Given the description of an element on the screen output the (x, y) to click on. 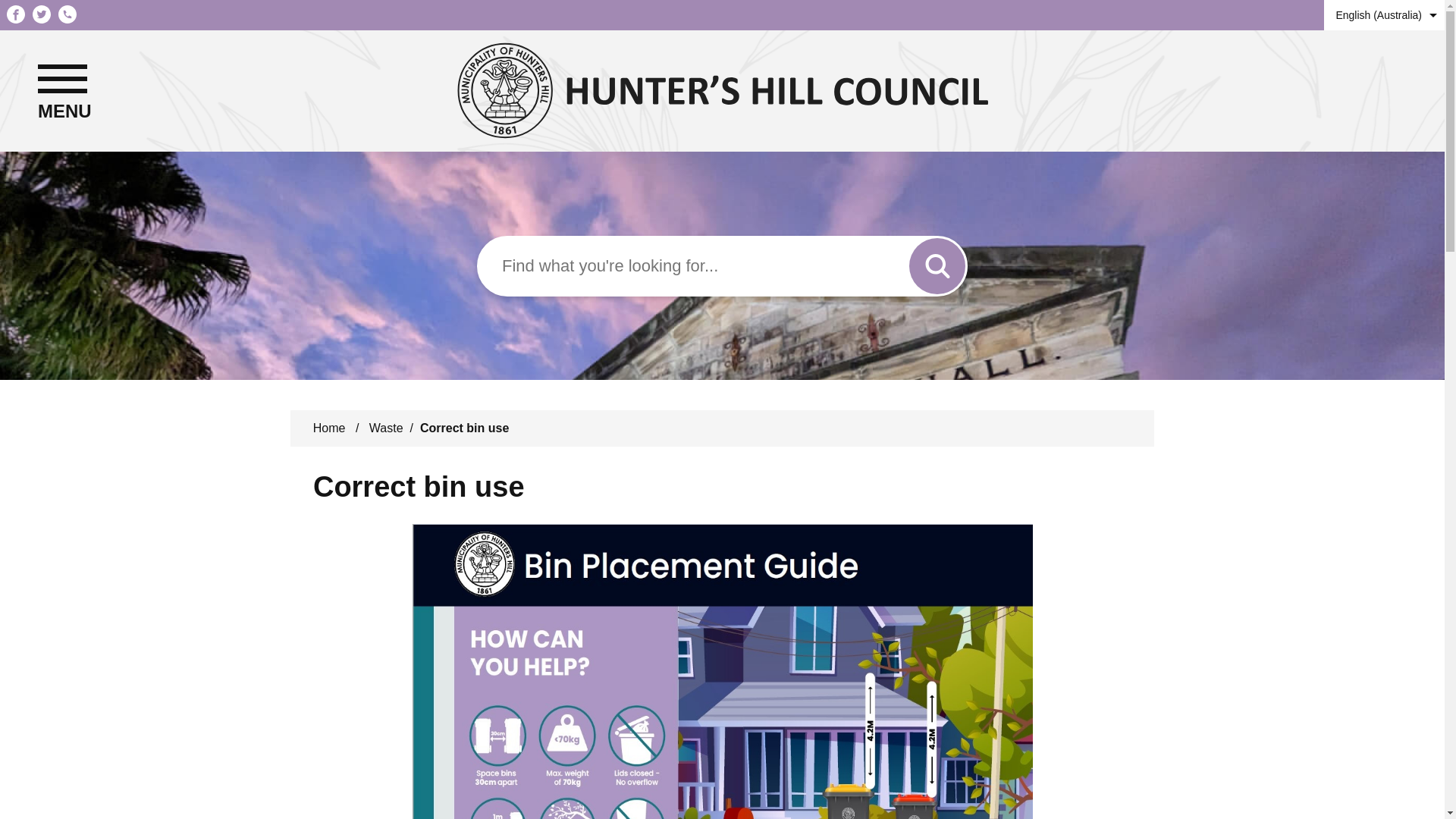
Hunter's Hill Council - Home - Logo (722, 90)
Search (936, 266)
Search (936, 266)
Contact Us (67, 15)
Twitter (41, 15)
Facebook (15, 15)
Search (936, 266)
